Given the description of an element on the screen output the (x, y) to click on. 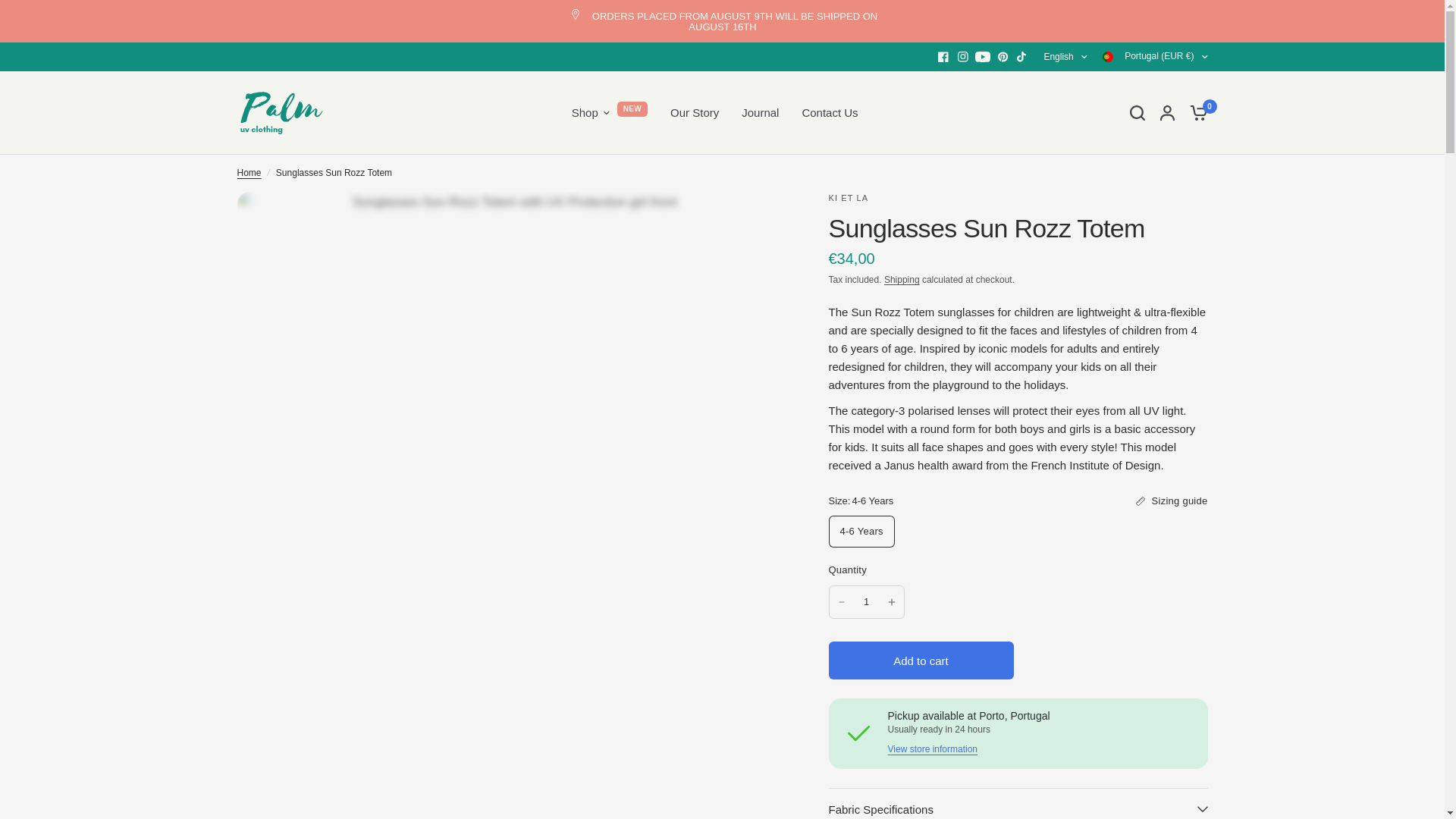
Pinterest (1001, 56)
TikTok (1021, 56)
Instagram (962, 56)
YouTube (982, 56)
Facebook (943, 56)
ORDERS PLACED FROM AUGUST 9TH WILL BE SHIPPED ON AUGUST 16TH (721, 21)
English (1064, 56)
